Given the description of an element on the screen output the (x, y) to click on. 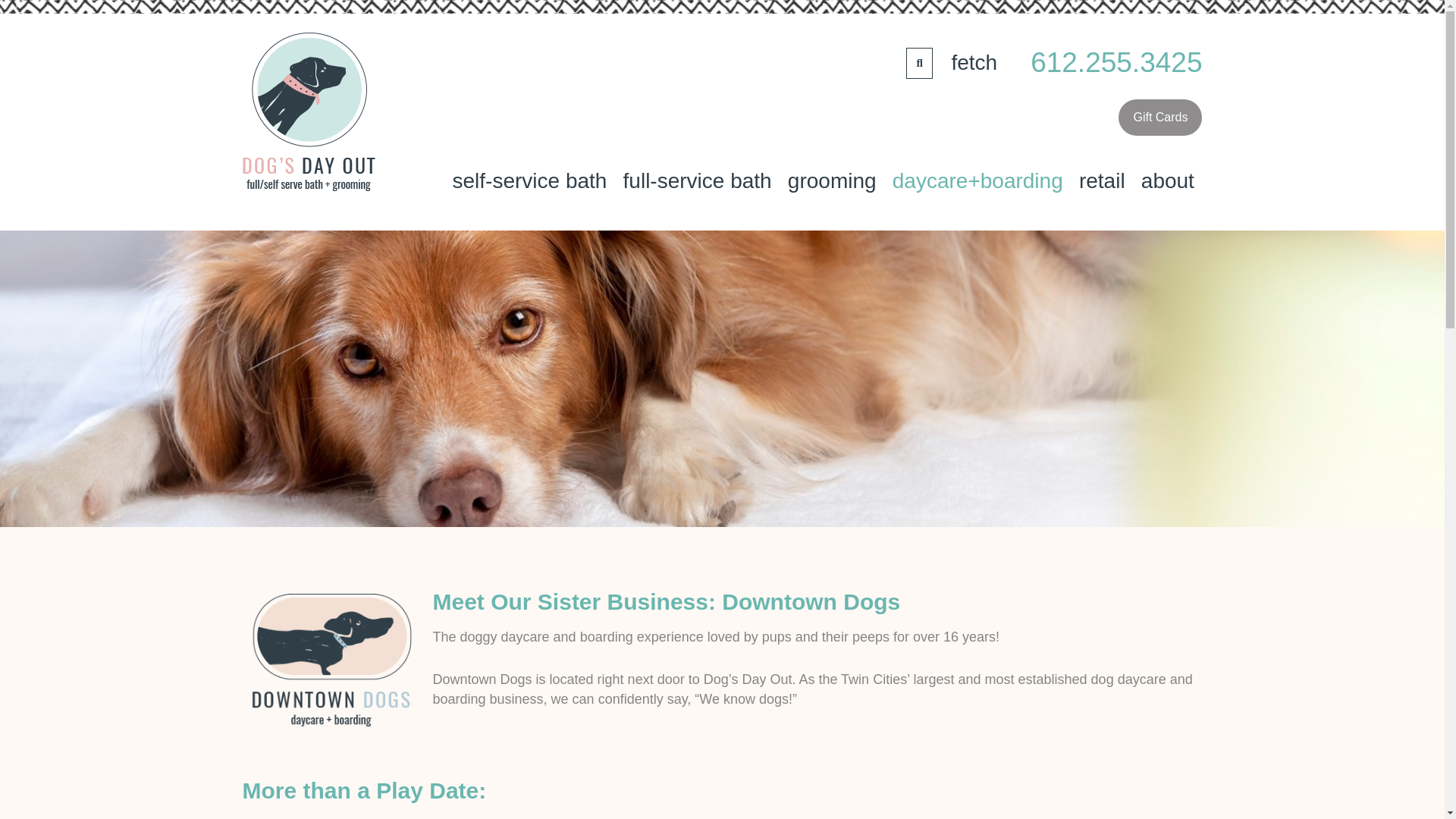
Downtown Dogs (810, 601)
612.255.3425 (1116, 62)
self-service bath (529, 181)
full-service bath (696, 181)
retail (1101, 181)
Gift Cards (1160, 117)
about (1167, 181)
grooming (830, 181)
